Given the description of an element on the screen output the (x, y) to click on. 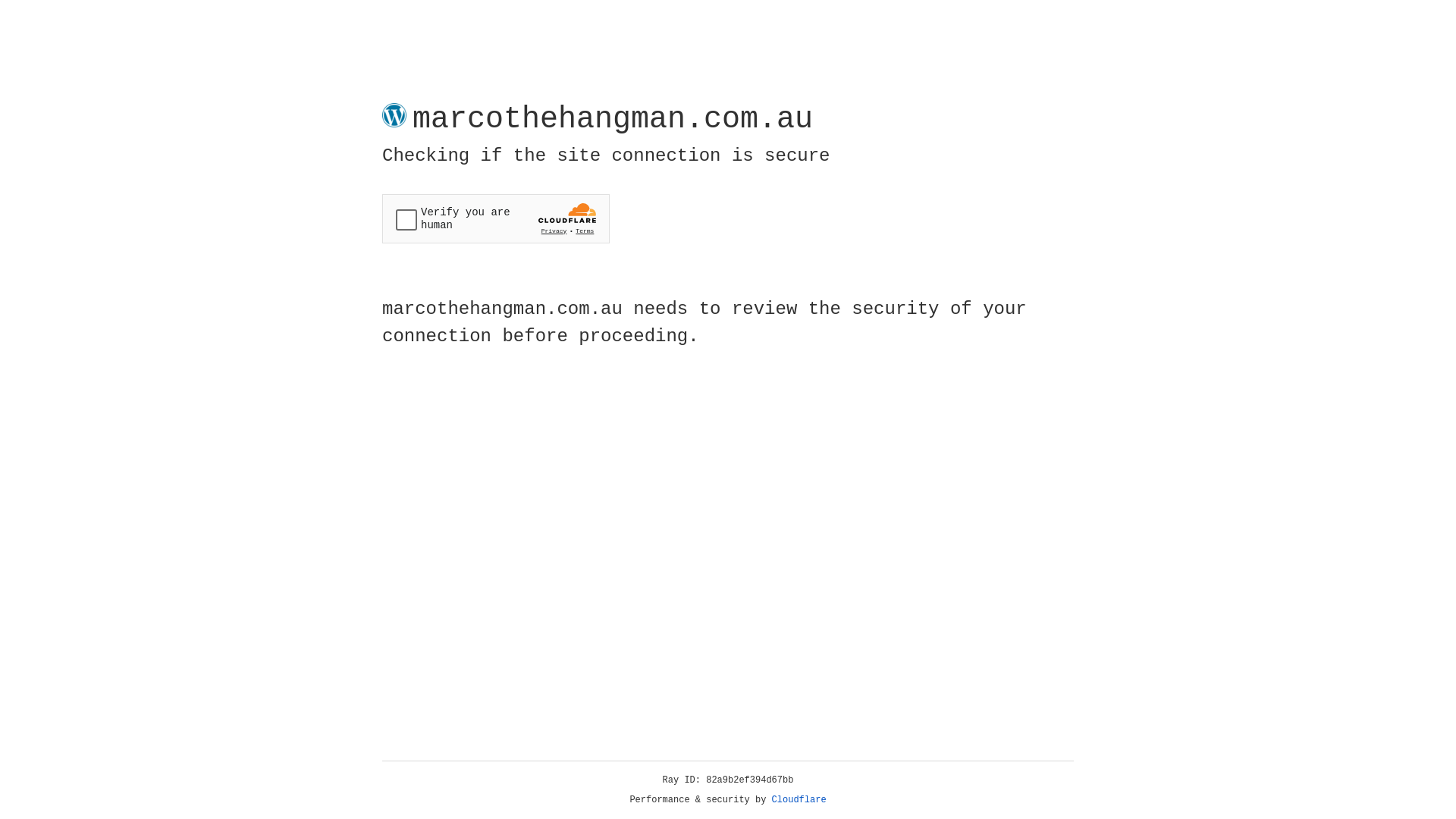
Cloudflare Element type: text (798, 799)
Widget containing a Cloudflare security challenge Element type: hover (495, 218)
